Given the description of an element on the screen output the (x, y) to click on. 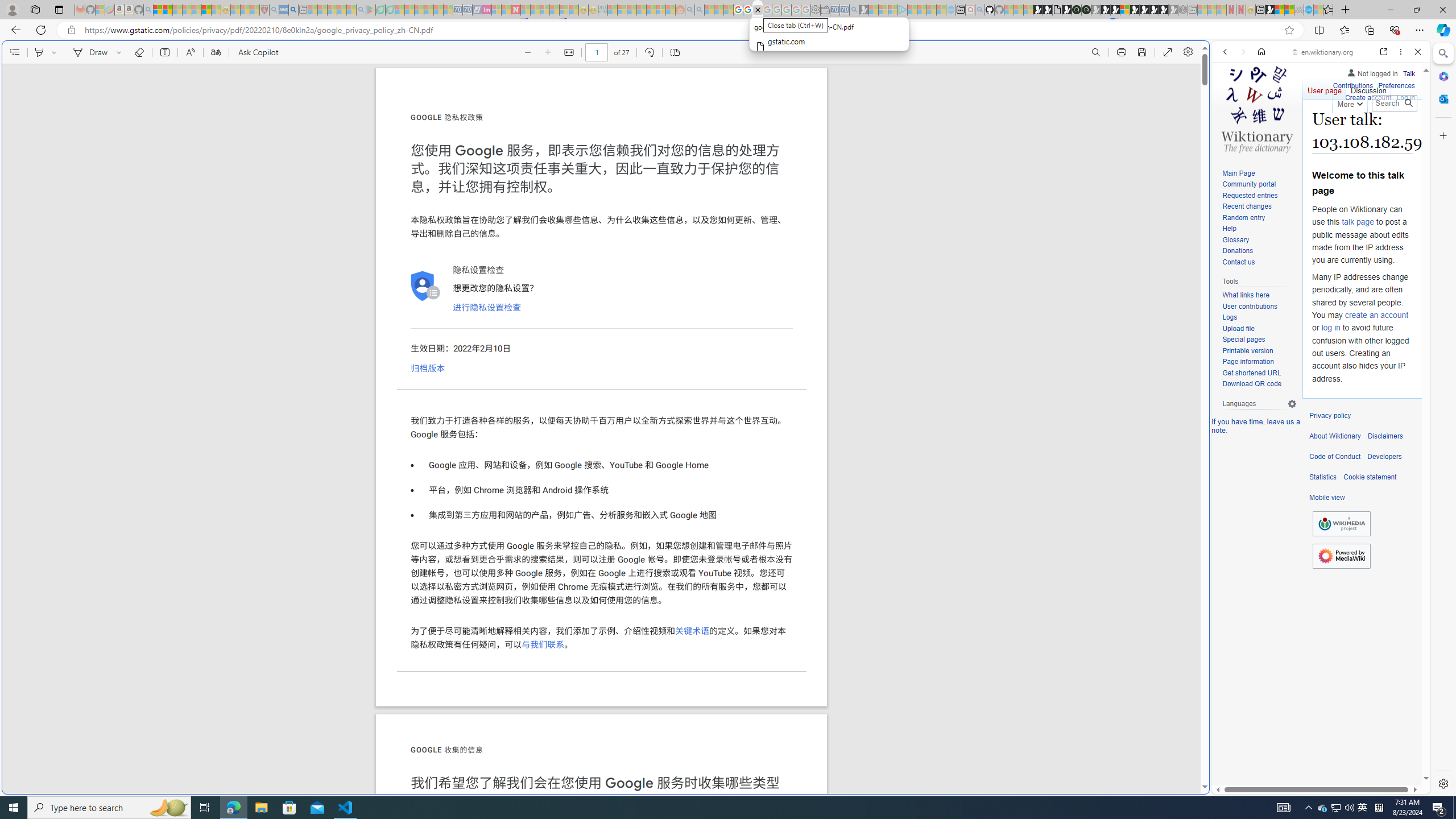
New tab - Sleeping (1192, 9)
Visit the main page (1257, 108)
MSNBC - MSN - Sleeping (611, 9)
What links here (1245, 295)
Preferences (1396, 84)
If you have time, leave us a note. (1255, 425)
Preferences (1403, 129)
Help (1228, 228)
Play Cave FRVR in your browser | Games from Microsoft Start (922, 242)
Wikimedia Foundation (1341, 524)
Cheap Car Rentals - Save70.com - Sleeping (844, 9)
Powered by MediaWiki (1341, 555)
